Given the description of an element on the screen output the (x, y) to click on. 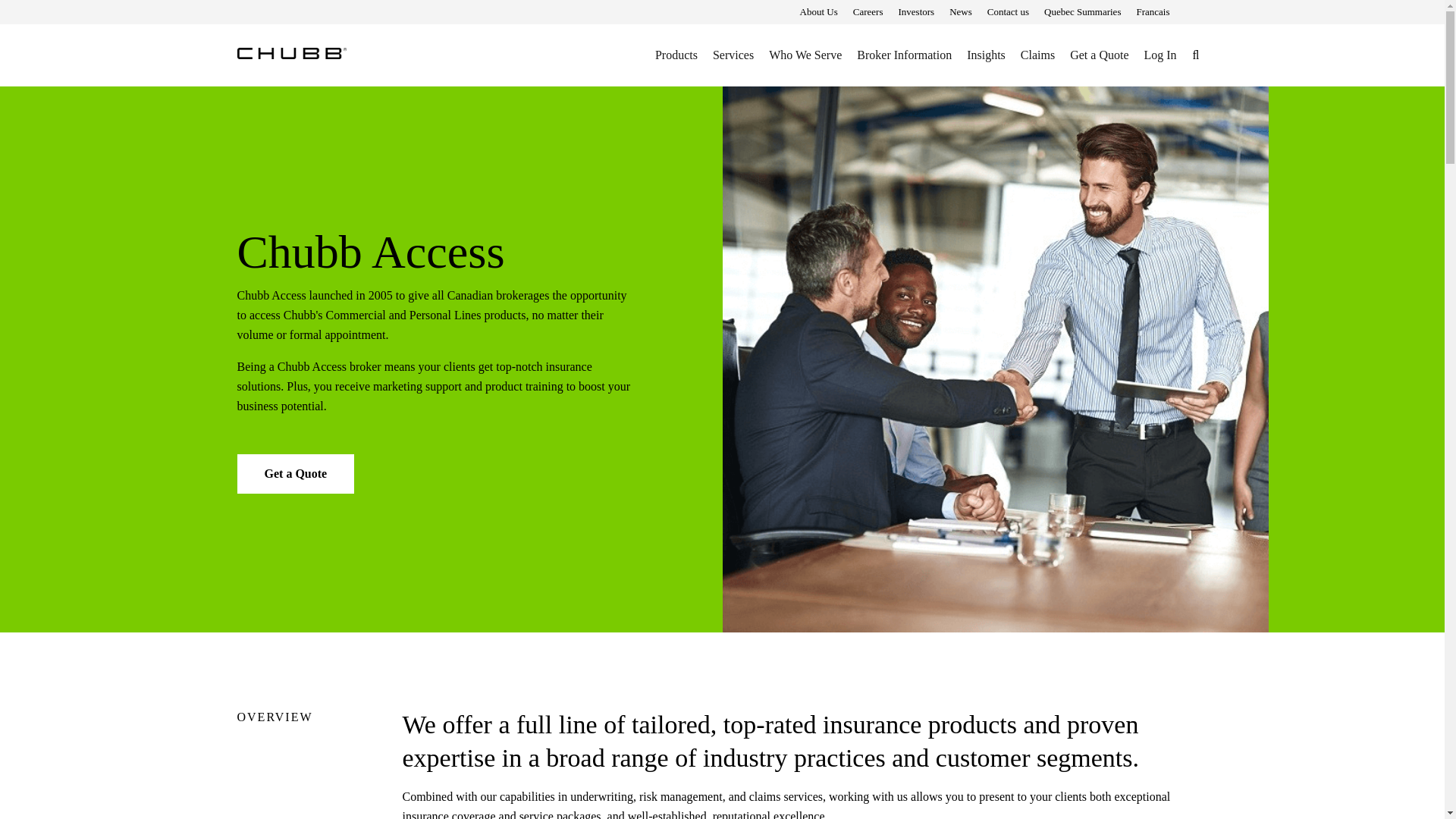
Francais (1152, 12)
Francais (1152, 12)
Chubb (290, 51)
Quebec Summaries (1082, 12)
Investors - Opens in new window (916, 12)
Contact us (1008, 12)
About Us (818, 12)
Careers - Opens in new window (868, 12)
Contact us (1008, 12)
About Us - Opens in new window (818, 12)
